Given the description of an element on the screen output the (x, y) to click on. 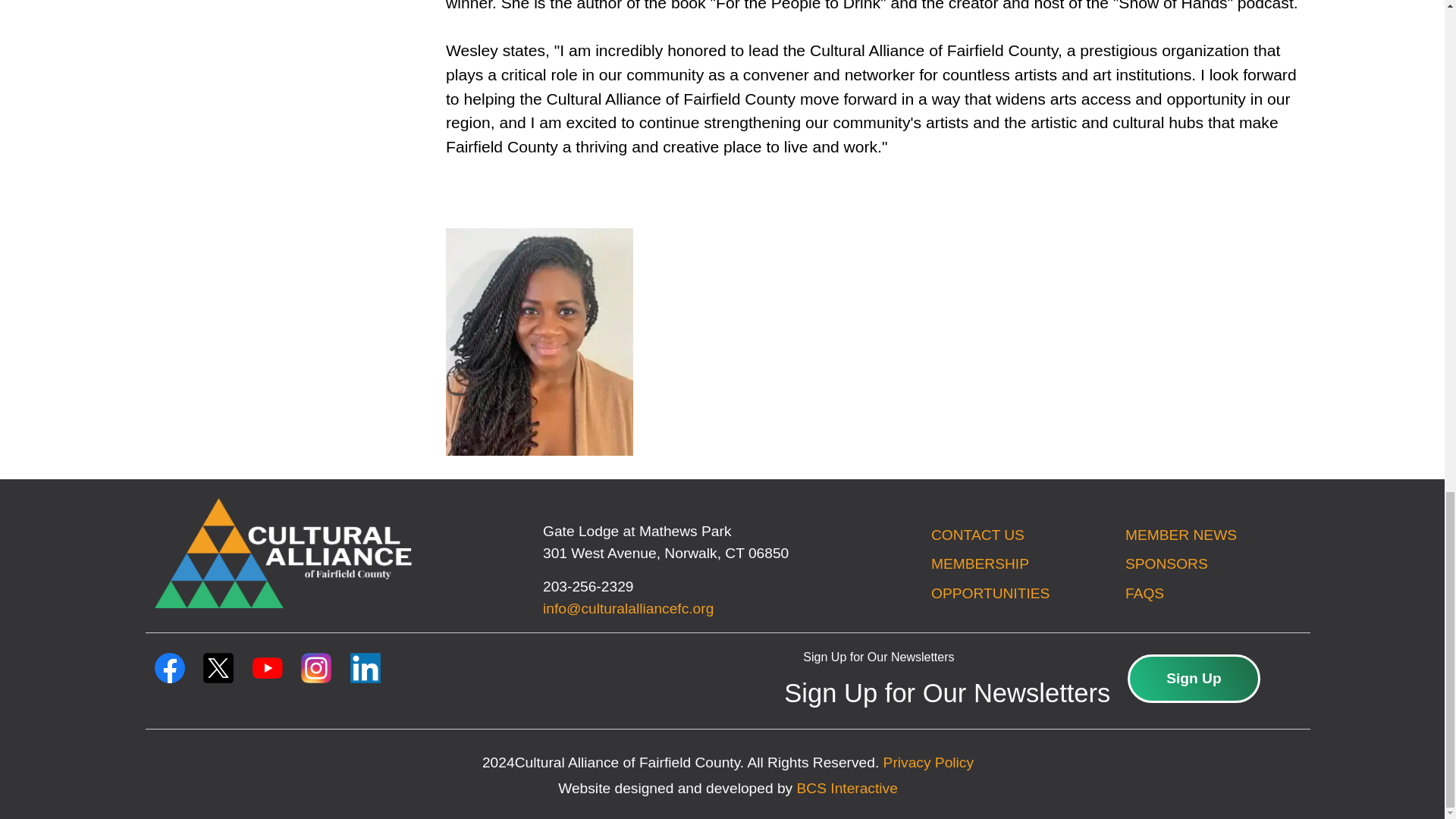
Sign Up for Our Newsletters (879, 693)
